Given the description of an element on the screen output the (x, y) to click on. 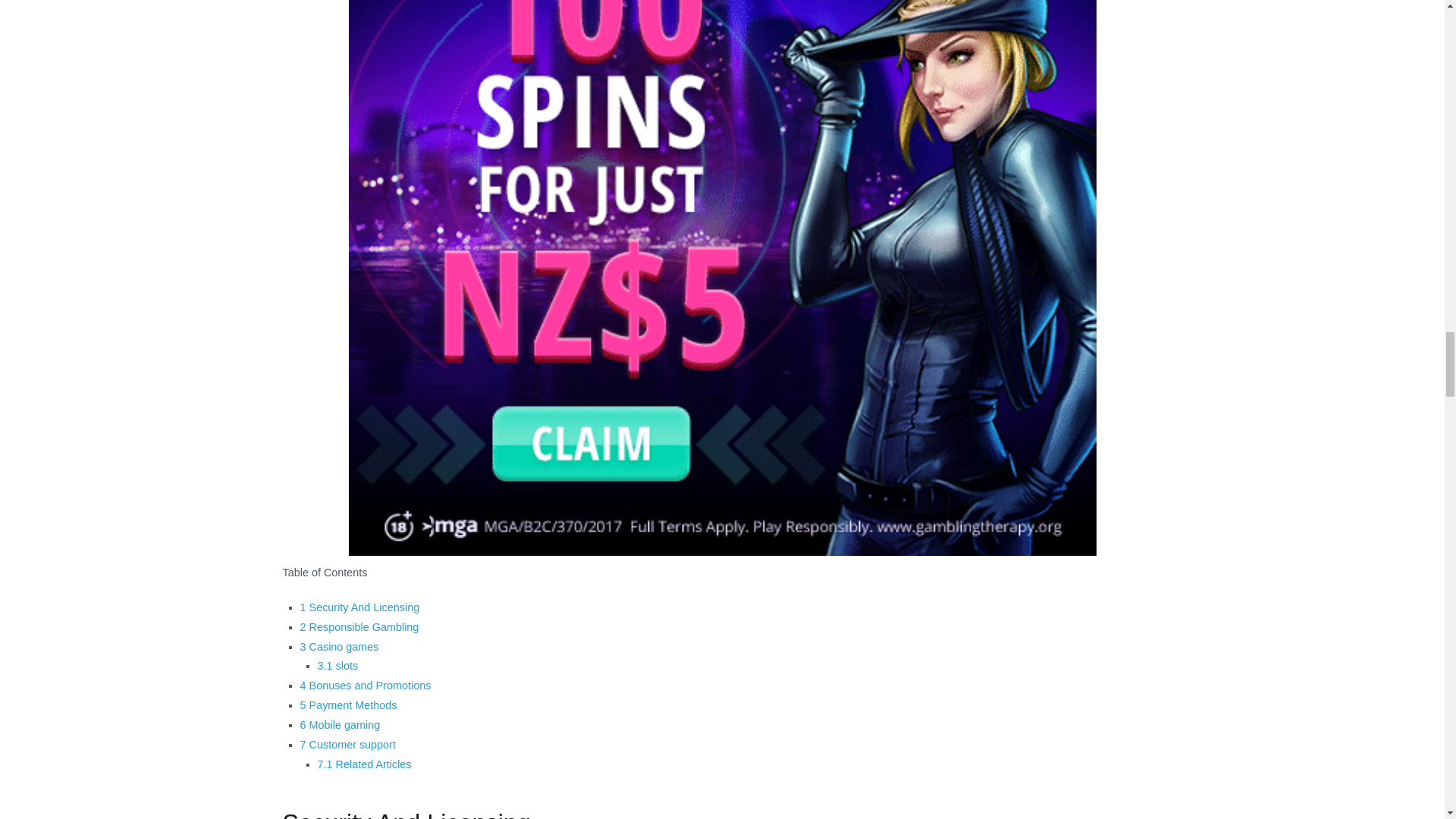
1 Security And Licensing (359, 607)
3.1 slots (337, 665)
3 Casino games (338, 646)
2 Responsible Gambling (359, 626)
